Given the description of an element on the screen output the (x, y) to click on. 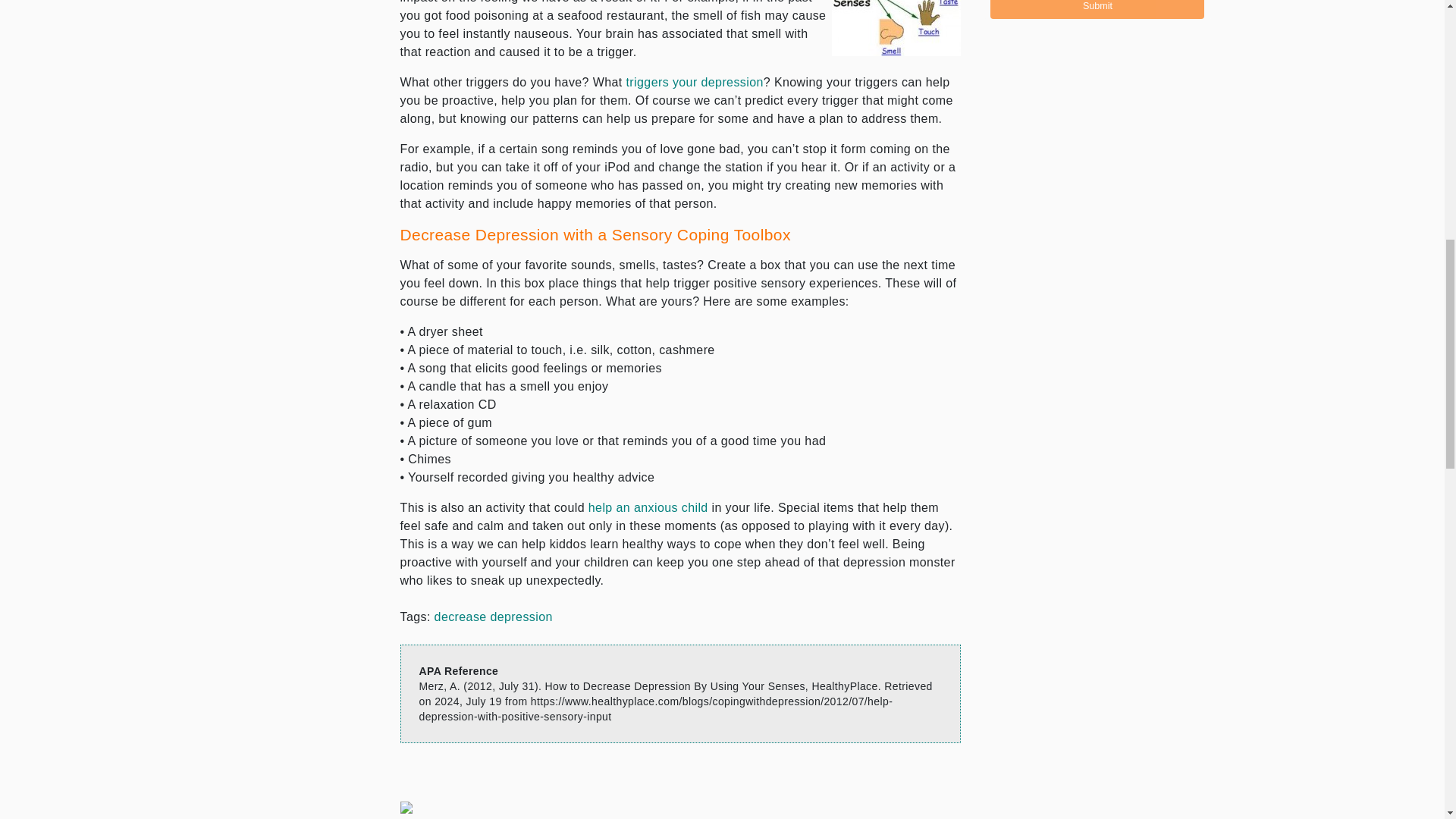
Submit (1097, 9)
How to Decrease Depression By Maximizing Use of Your Senses (895, 28)
